Given the description of an element on the screen output the (x, y) to click on. 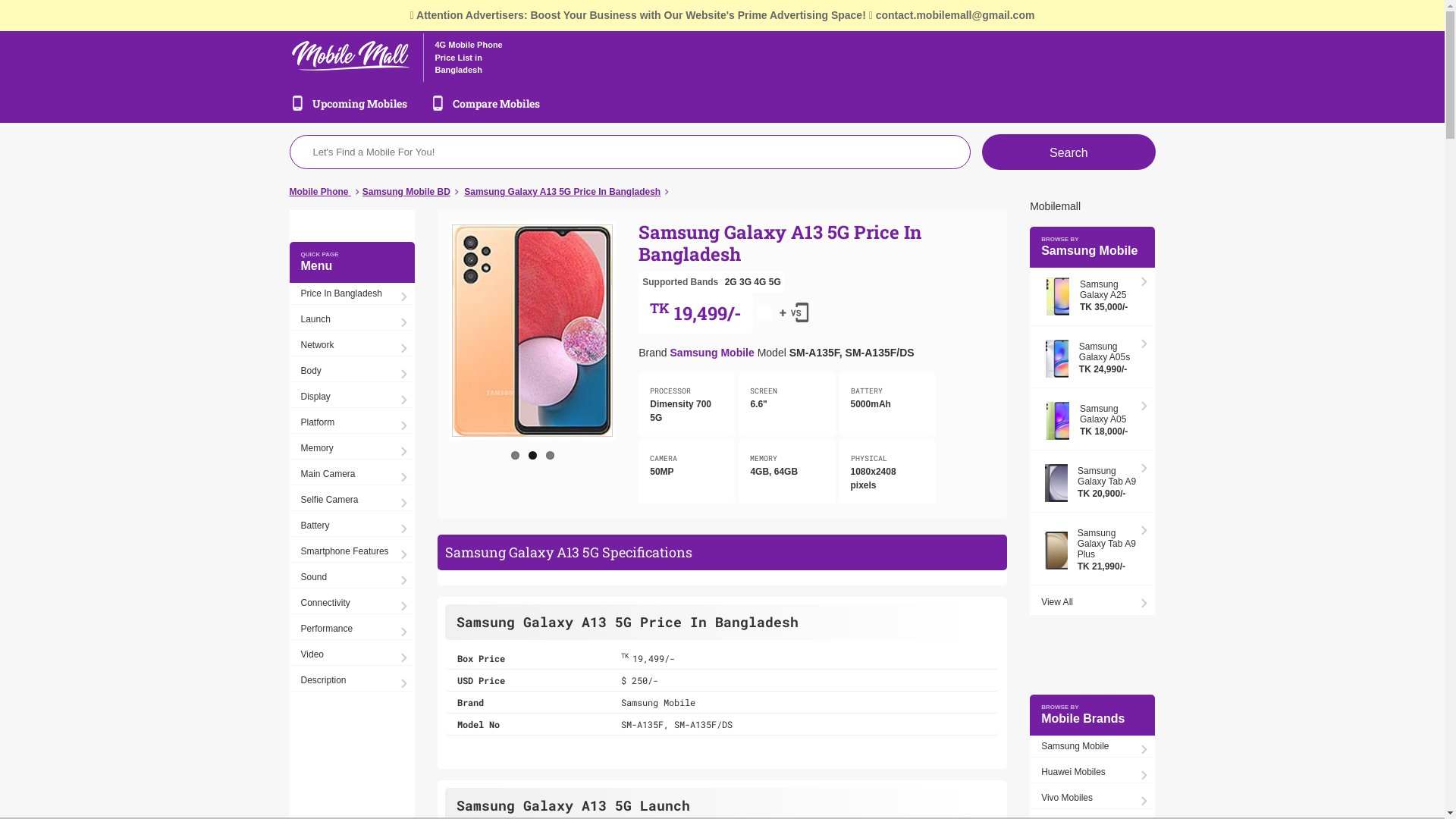
Huawei Mobiles Element type: text (1091, 772)
Samsung Mobile Element type: text (712, 352)
Samsung Mobile BD Element type: text (406, 191)
Samsung Galaxy A05s
TK 24,990/- Element type: text (1091, 358)
View All Element type: text (1091, 602)
Samsung Mobile Element type: text (1091, 746)
Compare Mobiles Element type: text (496, 103)
Samsung Galaxy A25
TK 35,000/- Element type: text (1091, 296)
Platform Element type: text (351, 422)
Main Camera Element type: text (351, 474)
Mobilemall Element type: text (1054, 206)
Samsung Galaxy A05
TK 18,000/- Element type: text (1091, 421)
Network Element type: text (351, 345)
Connectivity Element type: text (351, 603)
Price In Bangladesh Element type: text (351, 293)
2 Element type: text (532, 455)
Selfie Camera Element type: text (351, 500)
Launch Element type: text (351, 319)
Battery Element type: text (351, 525)
Upcoming Mobiles Element type: text (358, 103)
Description Element type: text (351, 680)
Vivo Mobiles Element type: text (1091, 798)
Body Element type: text (351, 371)
Search Element type: text (1068, 151)
Mobile Phone Element type: text (320, 191)
Display Element type: text (351, 396)
Performance Element type: text (351, 629)
Video Element type: text (351, 654)
Samsung Galaxy Tab A9
TK 20,900/- Element type: text (1091, 483)
Samsung Galaxy Tab A9 Plus
TK 21,990/- Element type: text (1091, 550)
Smartphone Features Element type: text (351, 551)
1 Element type: text (515, 455)
3 Element type: text (550, 455)
Memory Element type: text (351, 448)
Samsung Galaxy A13 5G Price In Bangladesh Element type: text (562, 191)
Sound Element type: text (351, 577)
